Given the description of an element on the screen output the (x, y) to click on. 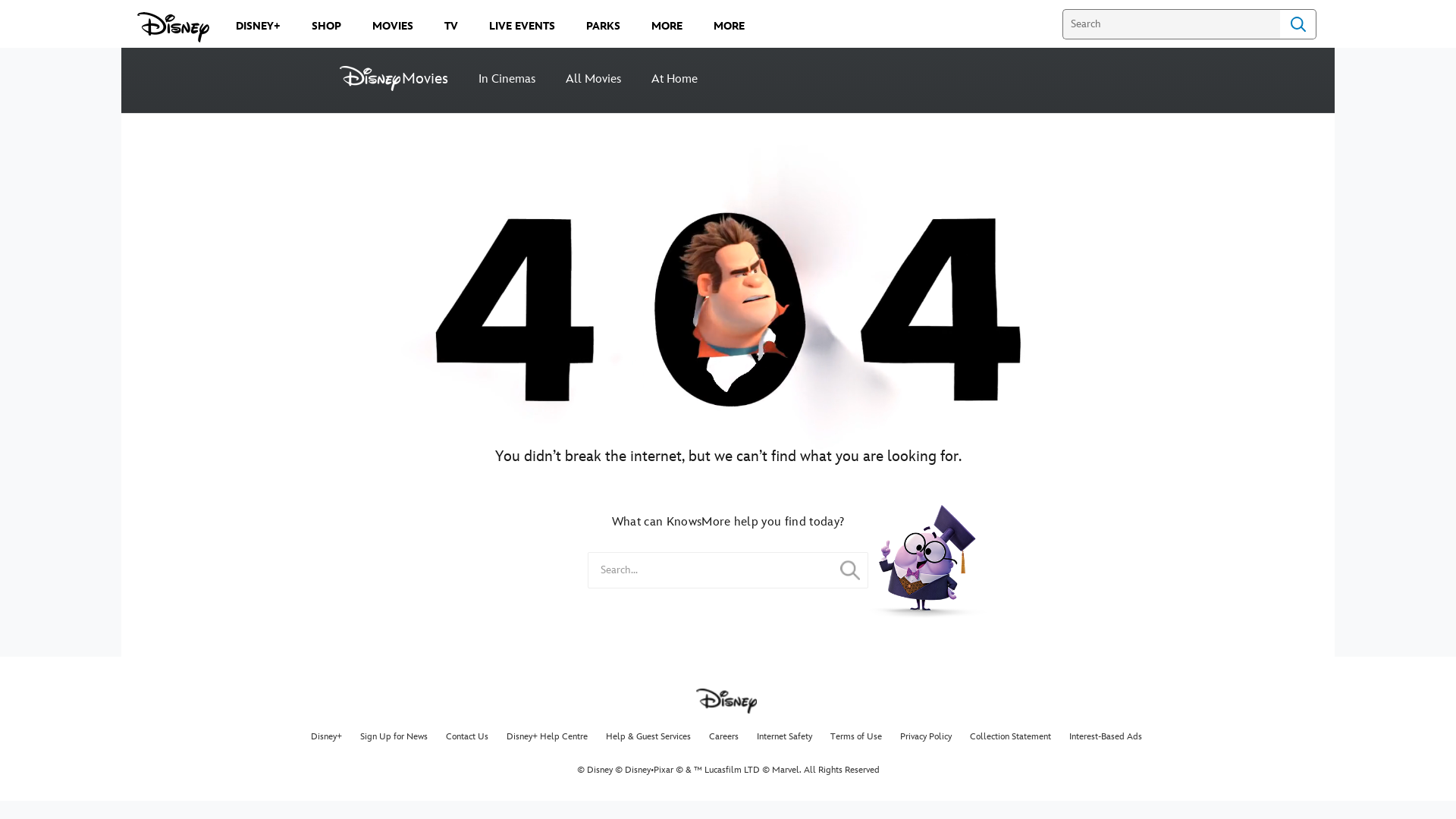
Privacy Policy Element type: text (925, 736)
Movies Element type: text (401, 78)
Sign Up for News Element type: text (393, 736)
SHOP Element type: text (326, 25)
All Movies Element type: text (593, 79)
DISNEY+ Element type: text (257, 25)
Terms of Use Element type: text (855, 736)
Disney+ Element type: text (326, 736)
LIVE EVENTS Element type: text (522, 25)
TV Element type: text (451, 25)
MORE Element type: text (666, 25)
Interest-Based Ads Element type: text (1105, 736)
MOVIES Element type: text (392, 25)
At Home Element type: text (674, 79)
PARKS Element type: text (603, 25)
Disney+ Help Centre Element type: text (546, 736)
Internet Safety Element type: text (784, 736)
Contact Us Element type: text (466, 736)
Search Element type: text (1298, 24)
Careers Element type: text (723, 736)
MORE Element type: text (728, 25)
Collection Statement Element type: text (1010, 736)
Help & Guest Services Element type: text (647, 736)
In Cinemas Element type: text (506, 79)
